Given the description of an element on the screen output the (x, y) to click on. 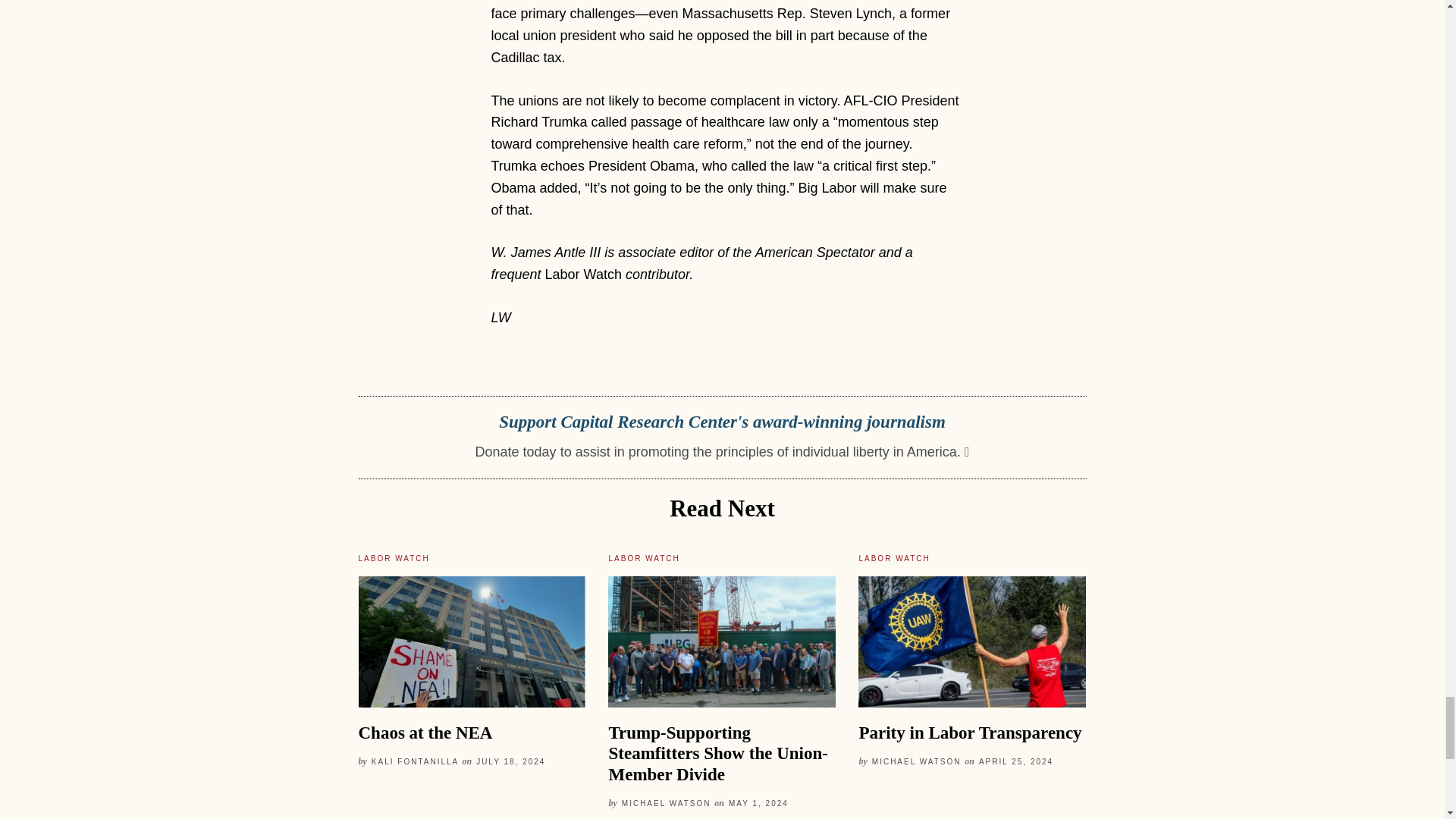
LABOR WATCH (393, 558)
LABOR WATCH (643, 558)
Trump-Supporting Steamfitters Show the Union-Member Divide (717, 753)
Chaos at the NEA (425, 732)
LABOR WATCH (894, 558)
Parity in Labor Transparency (970, 732)
